Given the description of an element on the screen output the (x, y) to click on. 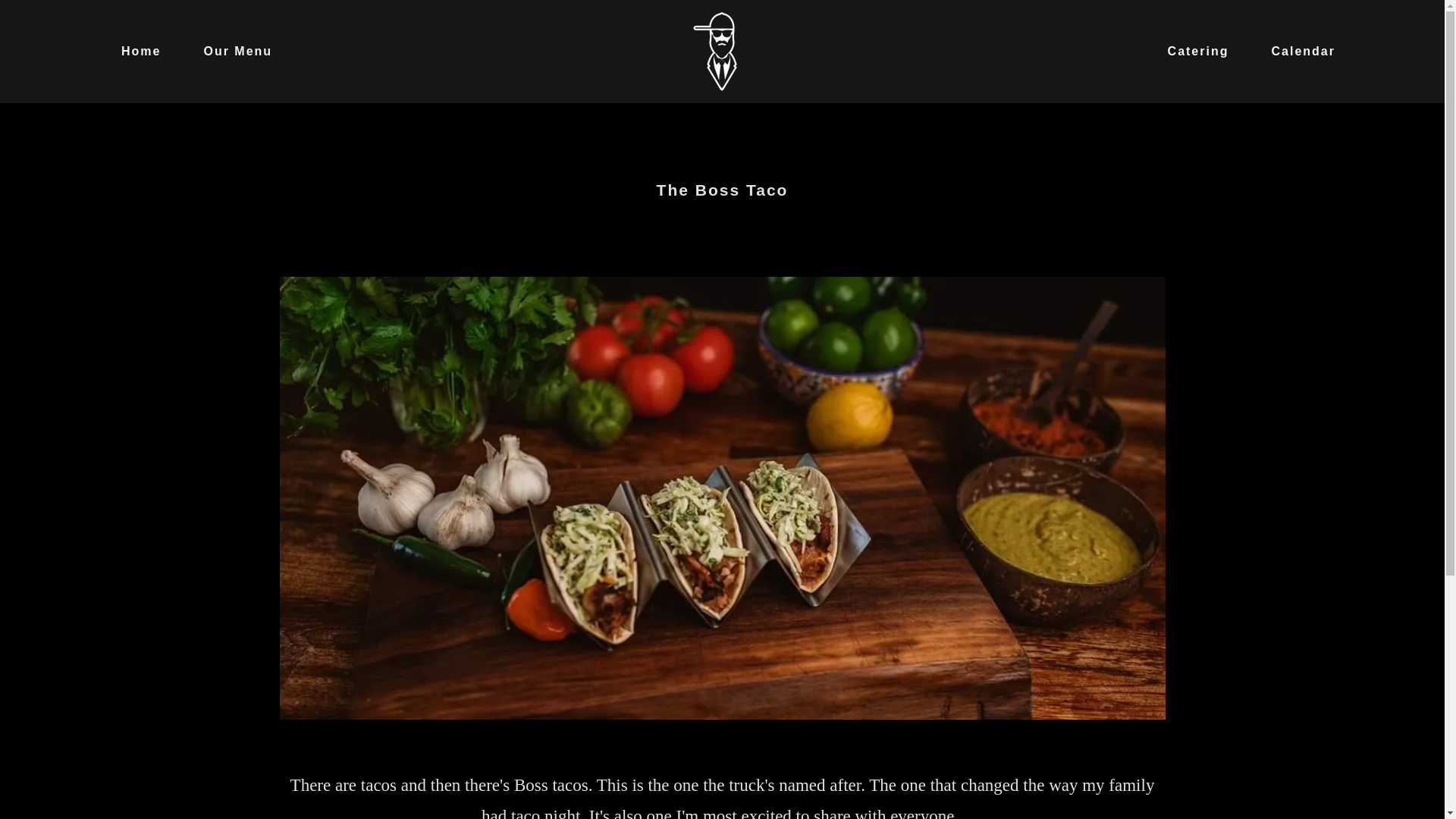
Catering (1192, 51)
El Jefes Boss Tacos (721, 49)
Home (134, 51)
Our Menu (231, 51)
Calendar (1296, 51)
